Given the description of an element on the screen output the (x, y) to click on. 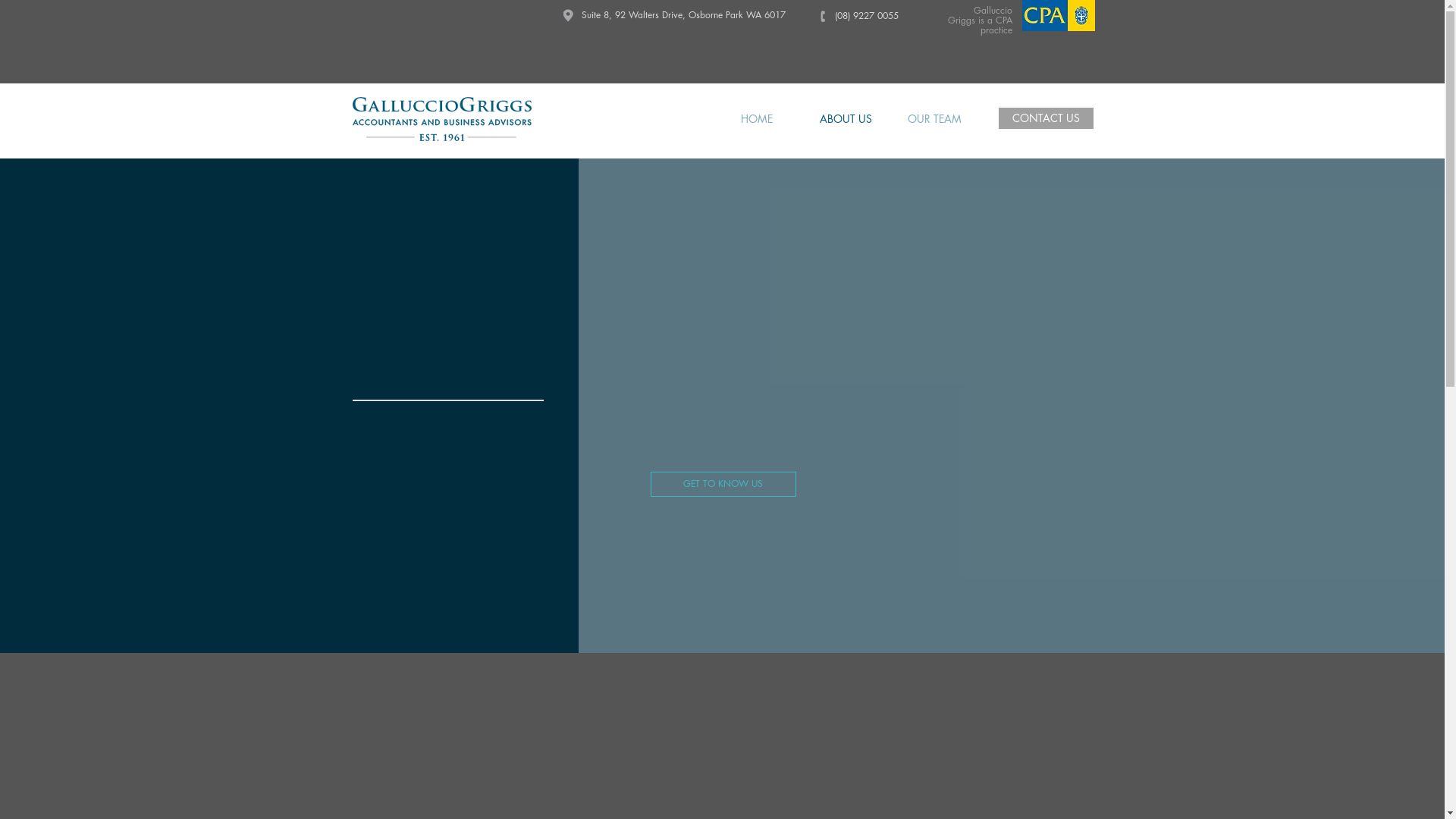
CONTACT US Element type: text (1044, 117)
HOME Element type: text (756, 118)
OUR TEAM Element type: text (934, 118)
GET TO KNOW US Element type: text (723, 483)
ABOUT US Element type: text (844, 118)
